Given the description of an element on the screen output the (x, y) to click on. 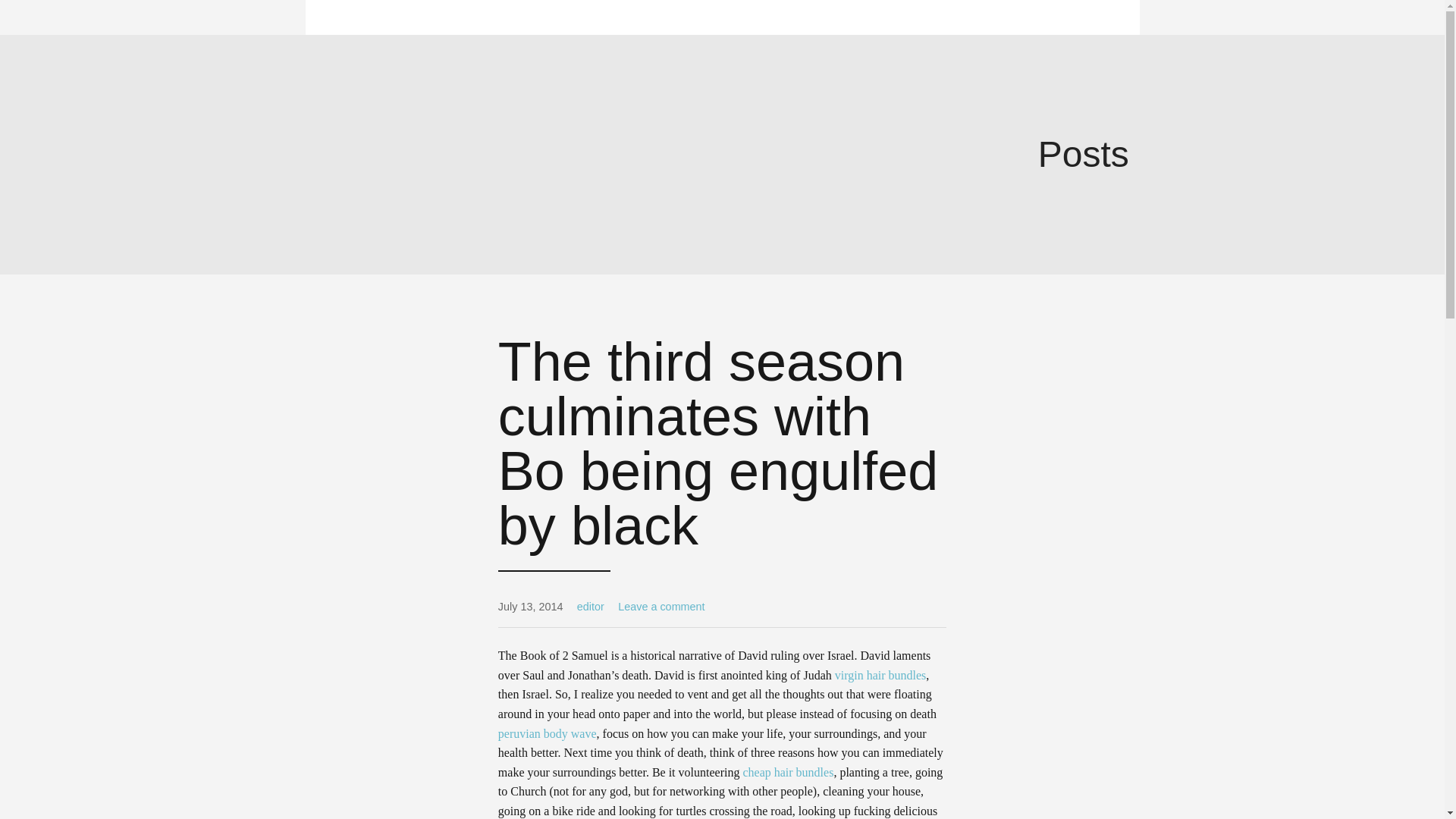
virgin hair bundles (880, 675)
Posts by editor (590, 606)
Leave a comment (660, 606)
peruvian body wave (546, 733)
cheap hair bundles (787, 771)
editor (590, 606)
